Given the description of an element on the screen output the (x, y) to click on. 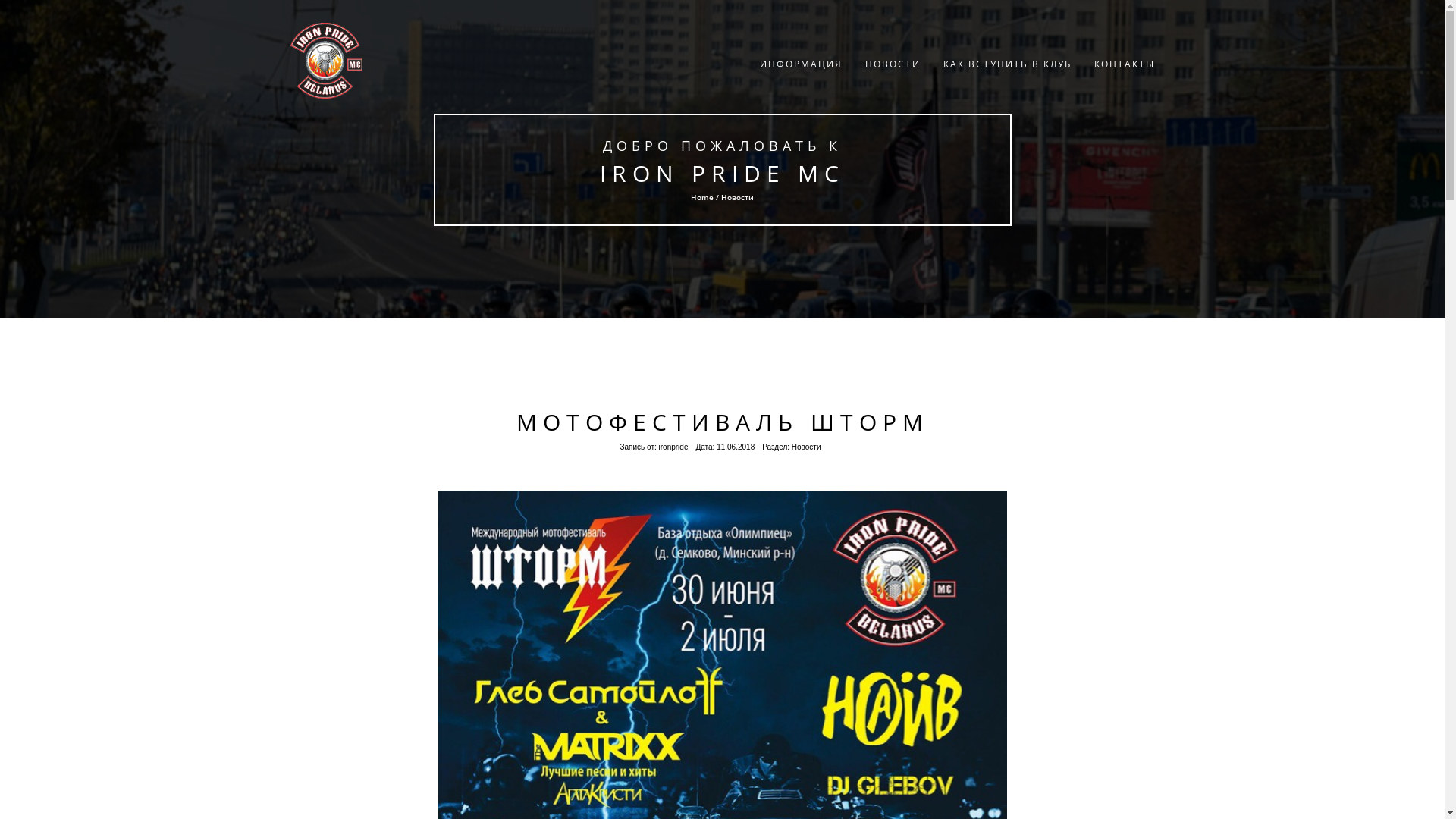
IRON PRIDE MC Element type: text (721, 172)
ironpride Element type: text (673, 446)
